Given the description of an element on the screen output the (x, y) to click on. 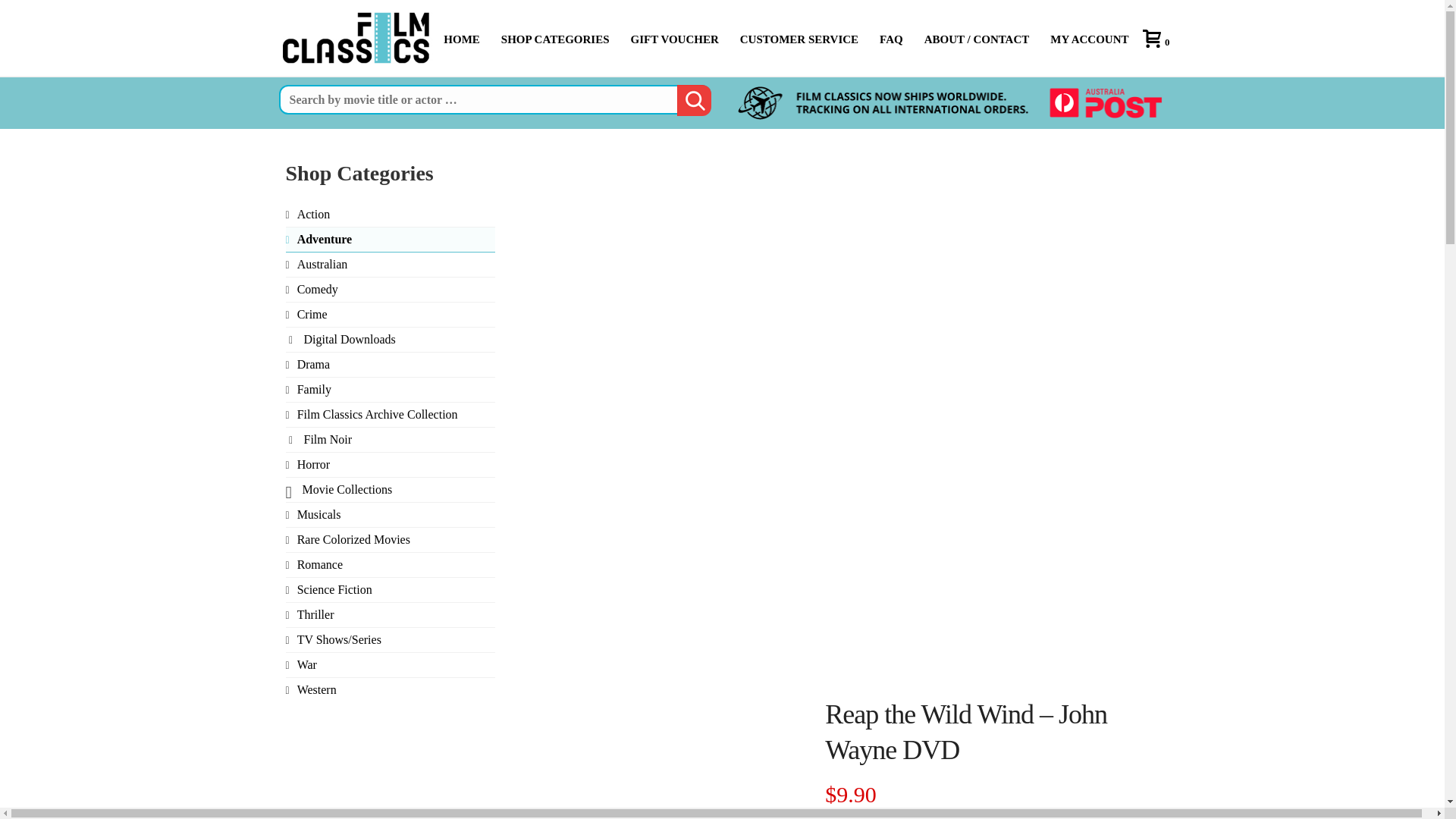
HOME (461, 38)
FAQ (891, 38)
MY ACCOUNT (1088, 38)
MY ACCOUNT (1088, 38)
SHOP CATEGORIES (555, 38)
They just don't make films like they used to! (357, 37)
SHOP CATEGORIES (555, 38)
HOME (461, 38)
GIFT VOUCHER (674, 38)
FAQ (891, 38)
GIFT VOUCHER (674, 38)
Film Classics Worldwide Shipping (949, 103)
CUSTOMER SERVICE (799, 38)
0 (1159, 41)
CUSTOMER SERVICE (799, 38)
